Given the description of an element on the screen output the (x, y) to click on. 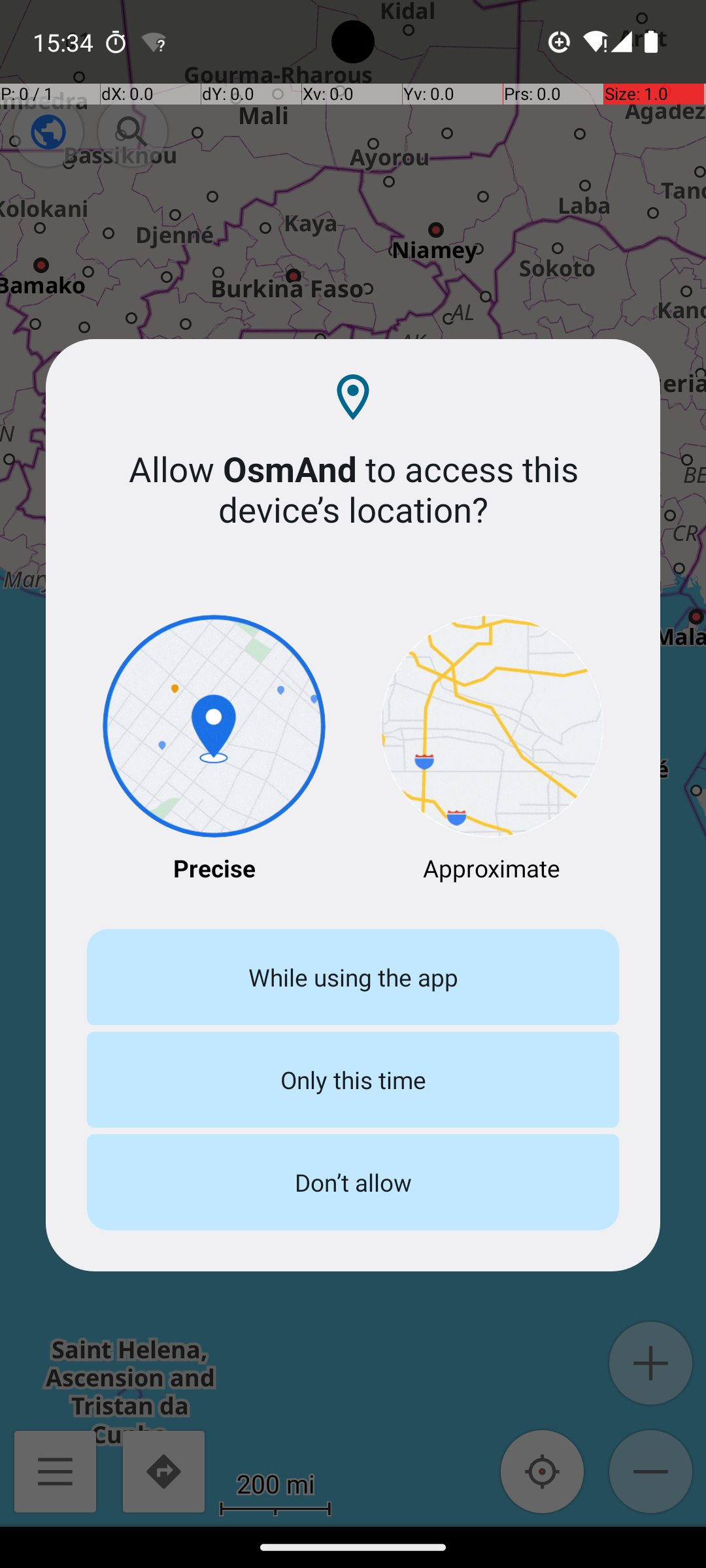
Allow OsmAnd to access this device’s location? Element type: android.widget.TextView (352, 488)
Precise Element type: android.widget.RadioButton (213, 749)
Approximate Element type: android.widget.RadioButton (491, 749)
